Given the description of an element on the screen output the (x, y) to click on. 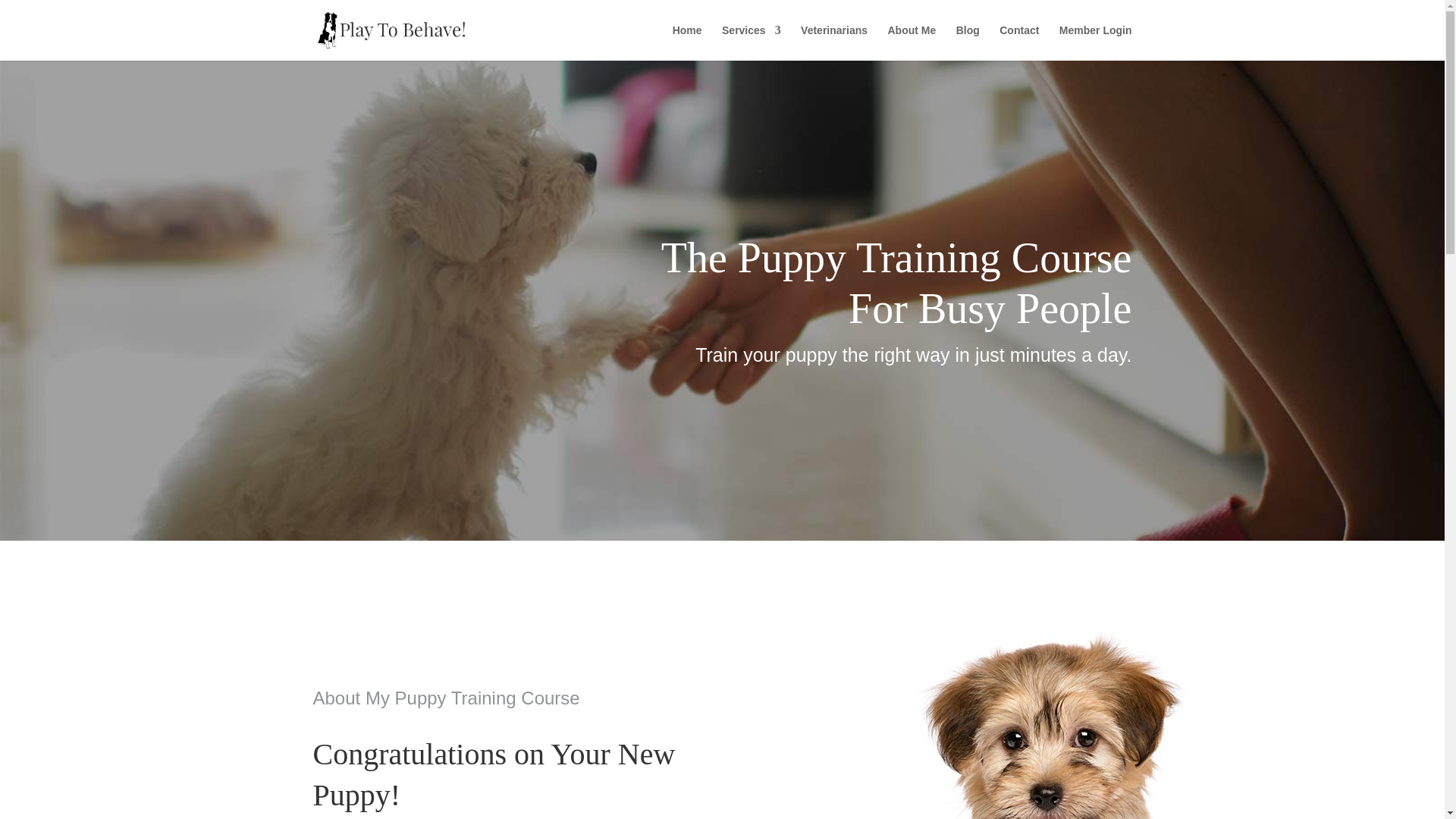
Puppy Training Course for Busy People (1082, 719)
Contact (1018, 42)
Veterinarians (833, 42)
Services (751, 42)
About Me (911, 42)
Member Login (1095, 42)
